Given the description of an element on the screen output the (x, y) to click on. 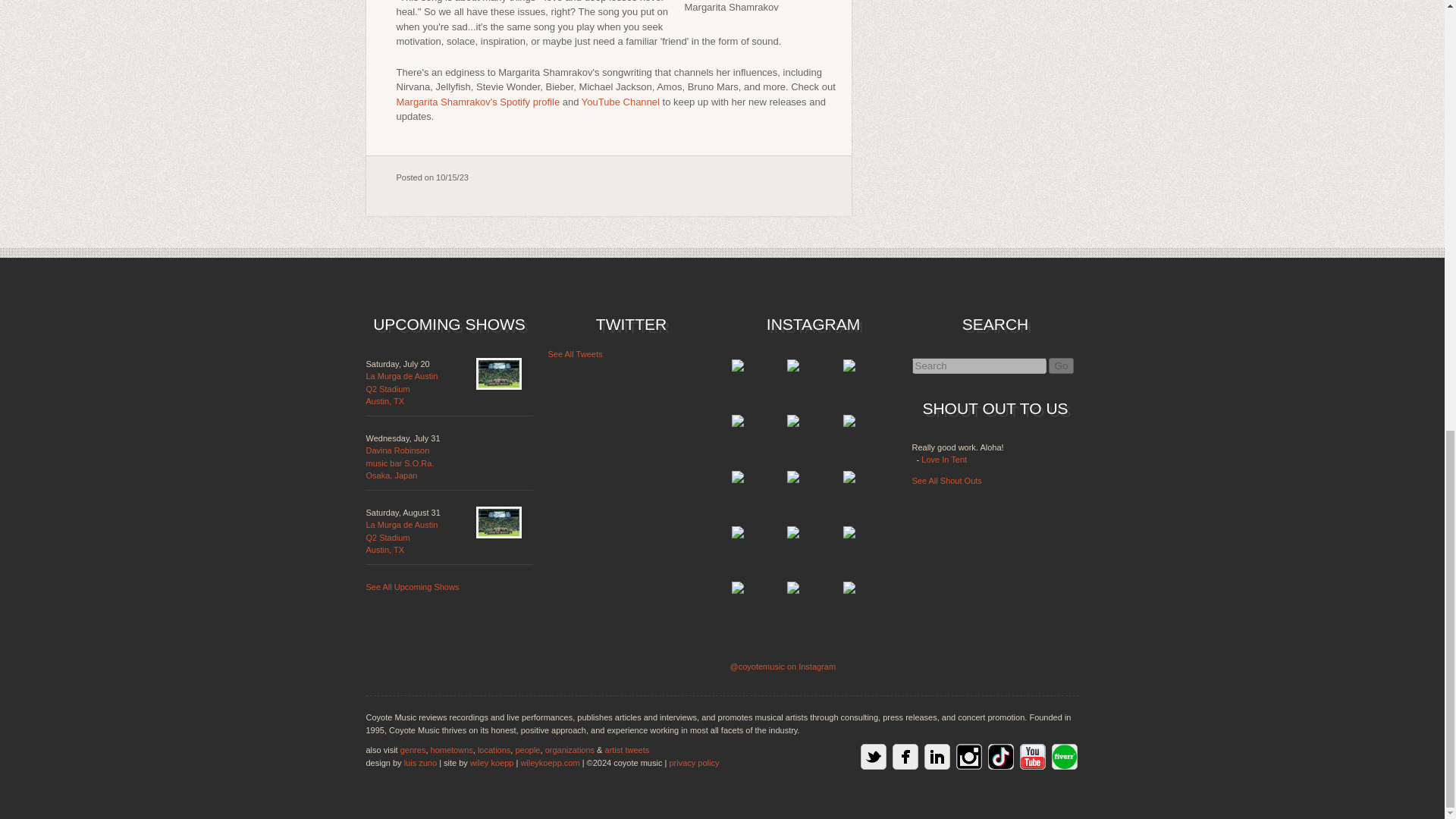
Follow Coyote Music on LinkedIn (936, 756)
See All Shout Outs (946, 480)
Love In Tent (401, 388)
See All Tweets (943, 459)
Coyote Music on YouTube (401, 537)
people (574, 353)
locations (1032, 756)
Coyote Music on Instagram (527, 749)
YouTube Channel (494, 749)
hometowns (968, 756)
See All Upcoming Shows (619, 101)
Check out my Gigs on Fiverr (451, 749)
